Given the description of an element on the screen output the (x, y) to click on. 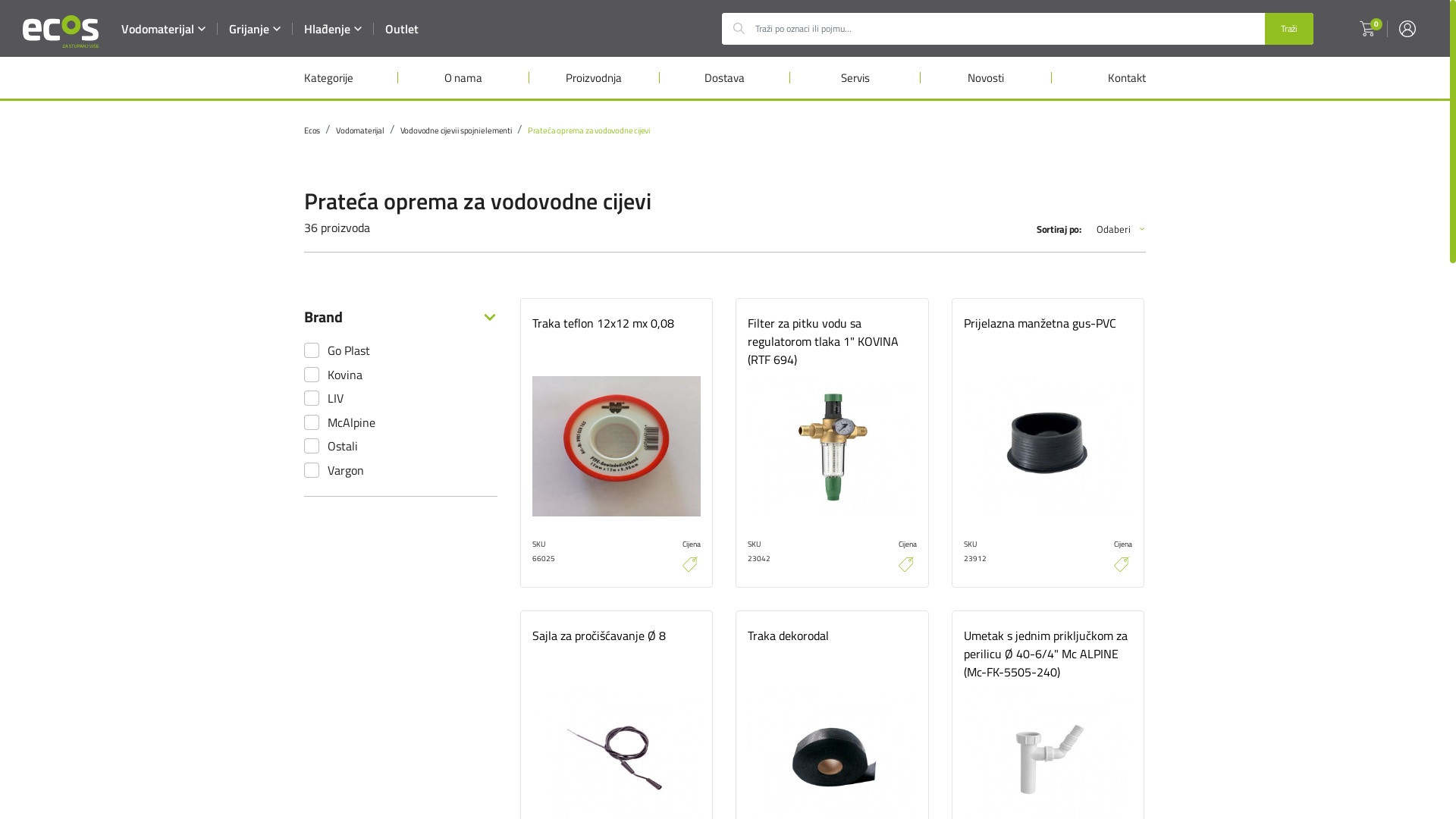
O nama Element type: text (463, 77)
Novosti Element type: text (985, 77)
0 Element type: text (1366, 27)
Outlet Element type: text (401, 28)
Odaberi Element type: text (1120, 229)
Servis Element type: text (855, 77)
Vodomaterijal Element type: text (359, 130)
Dostava Element type: text (724, 77)
Kontakt Element type: text (1098, 77)
Grijanje Element type: text (254, 28)
Kategorije Element type: text (351, 77)
Traka teflon 12x12 mx 0,08
SKU
66025
Cijena Element type: text (616, 442)
Vodomaterijal Element type: text (163, 28)
Proizvodnja Element type: text (594, 77)
Ecos Element type: text (312, 130)
Vodovodne cijevi i spojni elementi Element type: text (455, 130)
